Given the description of an element on the screen output the (x, y) to click on. 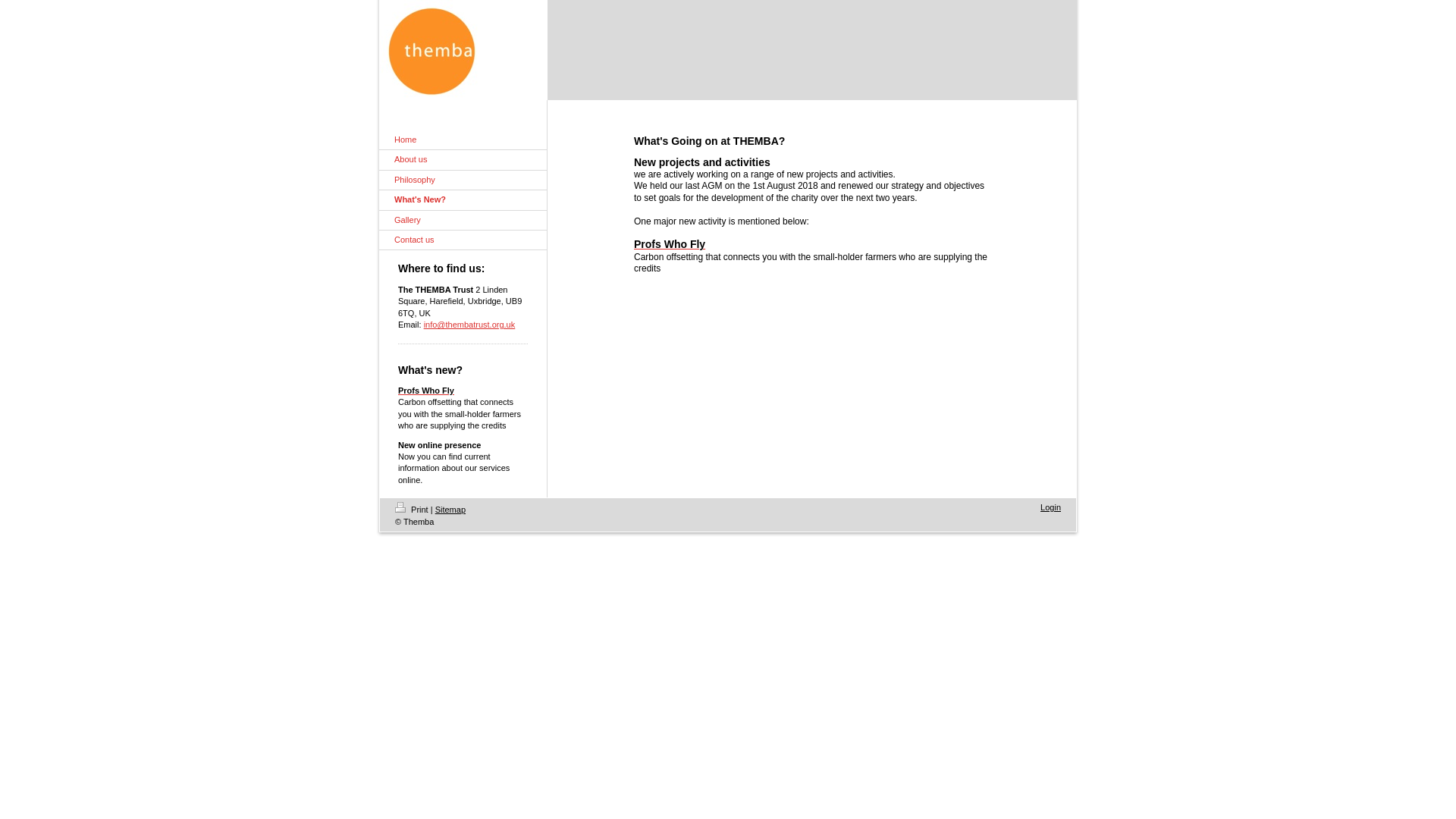
Profs Who Fly (425, 389)
What's New? (462, 199)
Sitemap (450, 509)
Contact us (462, 240)
Gallery (462, 220)
Profs Who Fly (668, 244)
Philosophy (462, 180)
About us (462, 159)
Home (462, 139)
Login (1051, 506)
Print (412, 509)
